Given the description of an element on the screen output the (x, y) to click on. 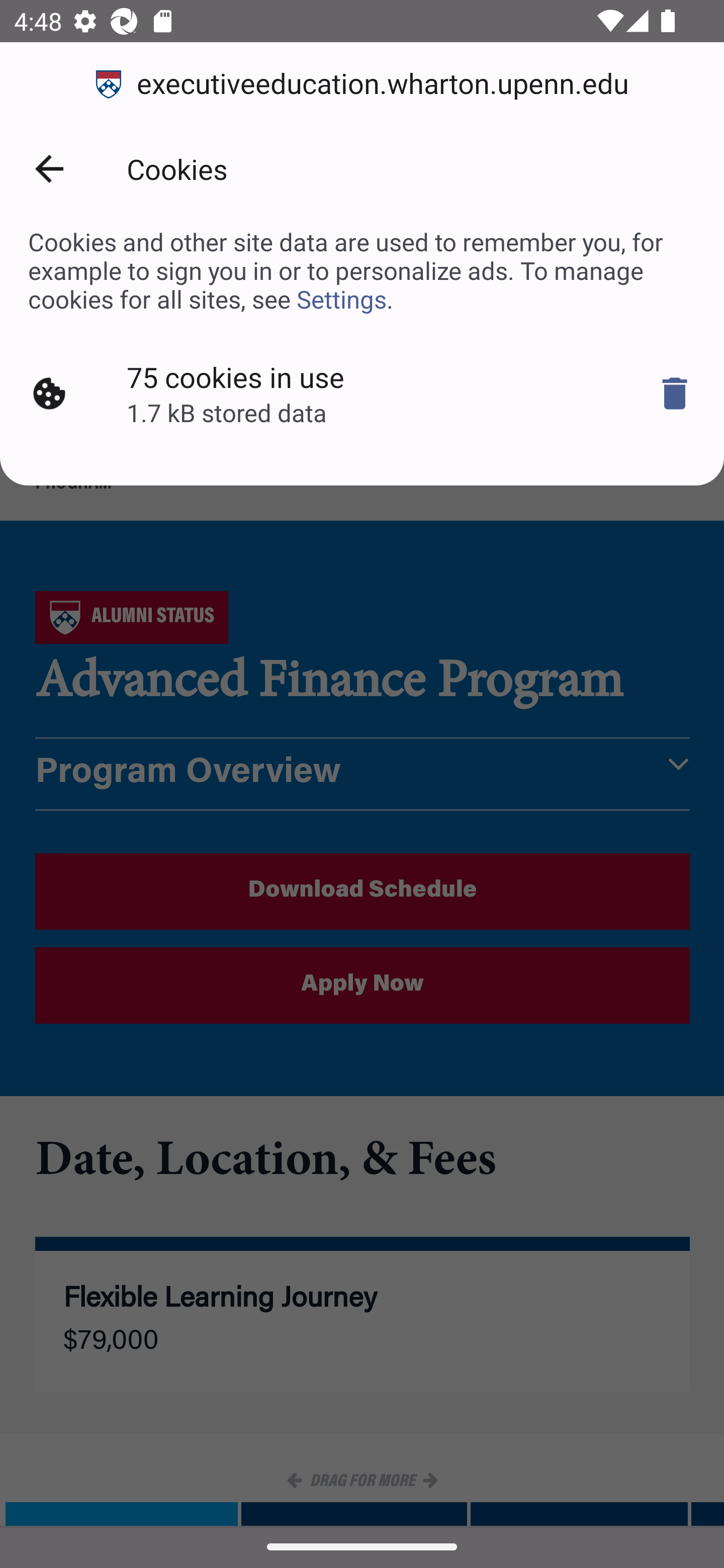
executiveeducation.wharton.upenn.edu (362, 84)
Back (49, 169)
